Given the description of an element on the screen output the (x, y) to click on. 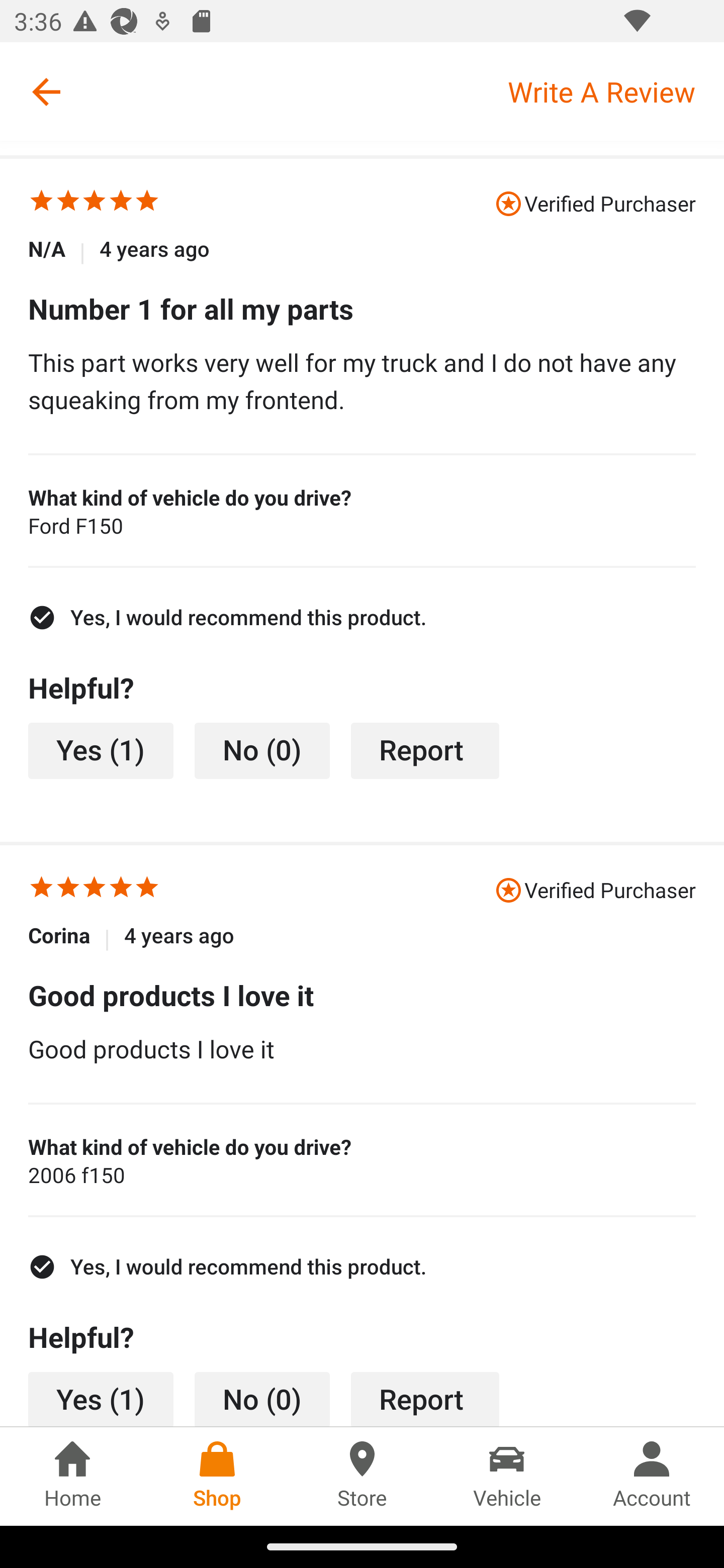
Go back (45, 91)
Write A Review (615, 91)
 (41, 202)
 (68, 202)
 (94, 202)
 (120, 202)
 (146, 202)
Yes (1) (100, 750)
No (0) (262, 750)
Report  (425, 750)
 (41, 889)
 (68, 889)
 (94, 889)
 (120, 889)
 (146, 889)
Yes (1) (100, 1399)
No (0) (262, 1399)
Report  (425, 1399)
Home (72, 1475)
Shop (216, 1475)
Store (361, 1475)
Vehicle (506, 1475)
Account (651, 1475)
